Given the description of an element on the screen output the (x, y) to click on. 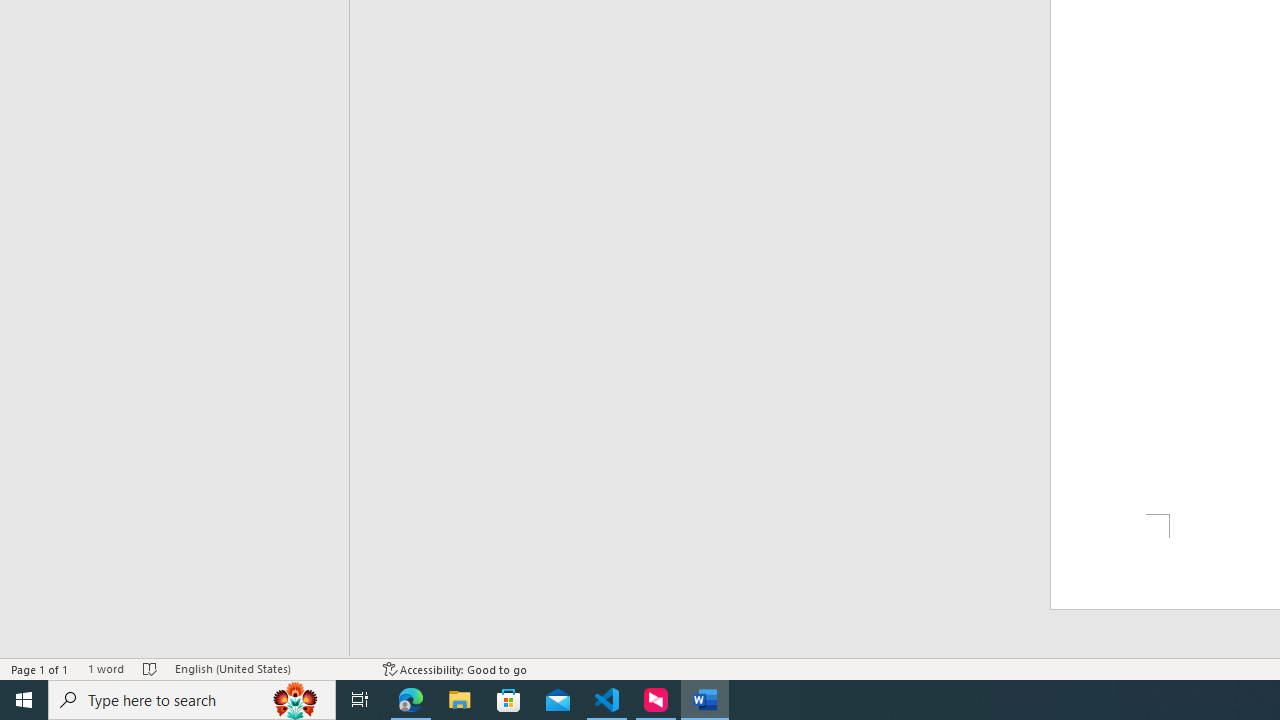
Accessibility Checker Accessibility: Good to go (455, 668)
Page Number Page 1 of 1 (39, 668)
Spelling and Grammar Check No Errors (150, 668)
Language English (United States) (269, 668)
